Given the description of an element on the screen output the (x, y) to click on. 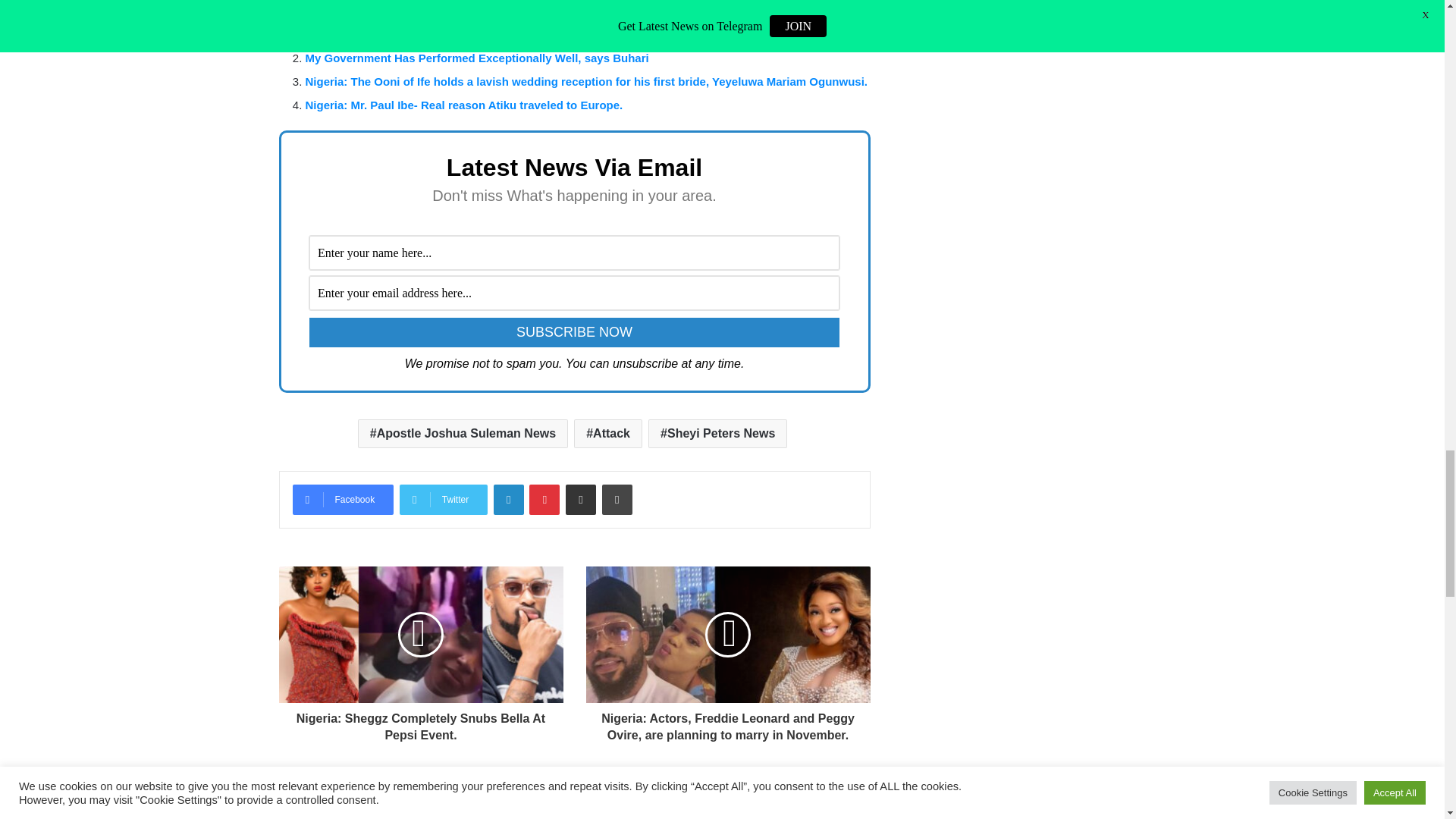
Subscribe Now (574, 332)
My Government Has Performed Exceptionally Well, says Buhari (475, 57)
2023 Presidency: Candidate for SDP pledges 30 million jobs (466, 33)
My Government Has Performed Exceptionally Well, says Buhari (475, 57)
Subscribe Now (574, 332)
Nigeria: Mr. Paul Ibe- Real reason Atiku traveled to Europe. (463, 104)
Attack (607, 433)
Nigeria: Mr. Paul Ibe- Real reason Atiku traveled to Europe. (463, 104)
Apostle Joshua Suleman News (462, 433)
2023 Presidency: Candidate for SDP pledges 30 million jobs (466, 33)
